Given the description of an element on the screen output the (x, y) to click on. 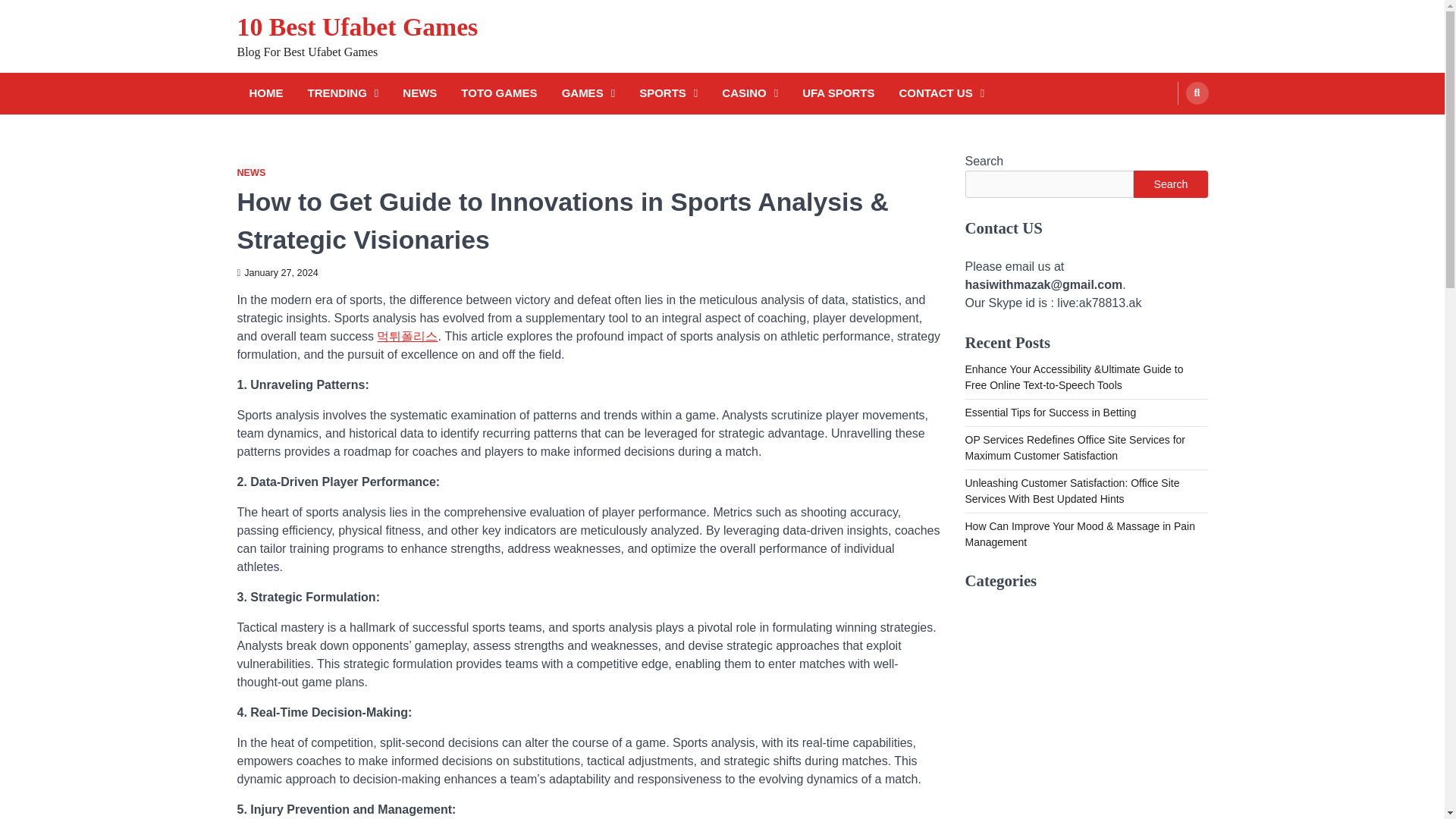
10 Best Ufabet Games (356, 26)
HOME (265, 93)
SPORTS (668, 93)
TOTO GAMES (498, 93)
January 27, 2024 (276, 272)
Essential Tips for Success in Betting (1049, 412)
UFA SPORTS (838, 93)
Search (1170, 184)
GAMES (588, 93)
TRENDING (343, 93)
CONTACT US (941, 93)
NEWS (249, 173)
Search (1197, 92)
CASINO (750, 93)
Search (1168, 128)
